Given the description of an element on the screen output the (x, y) to click on. 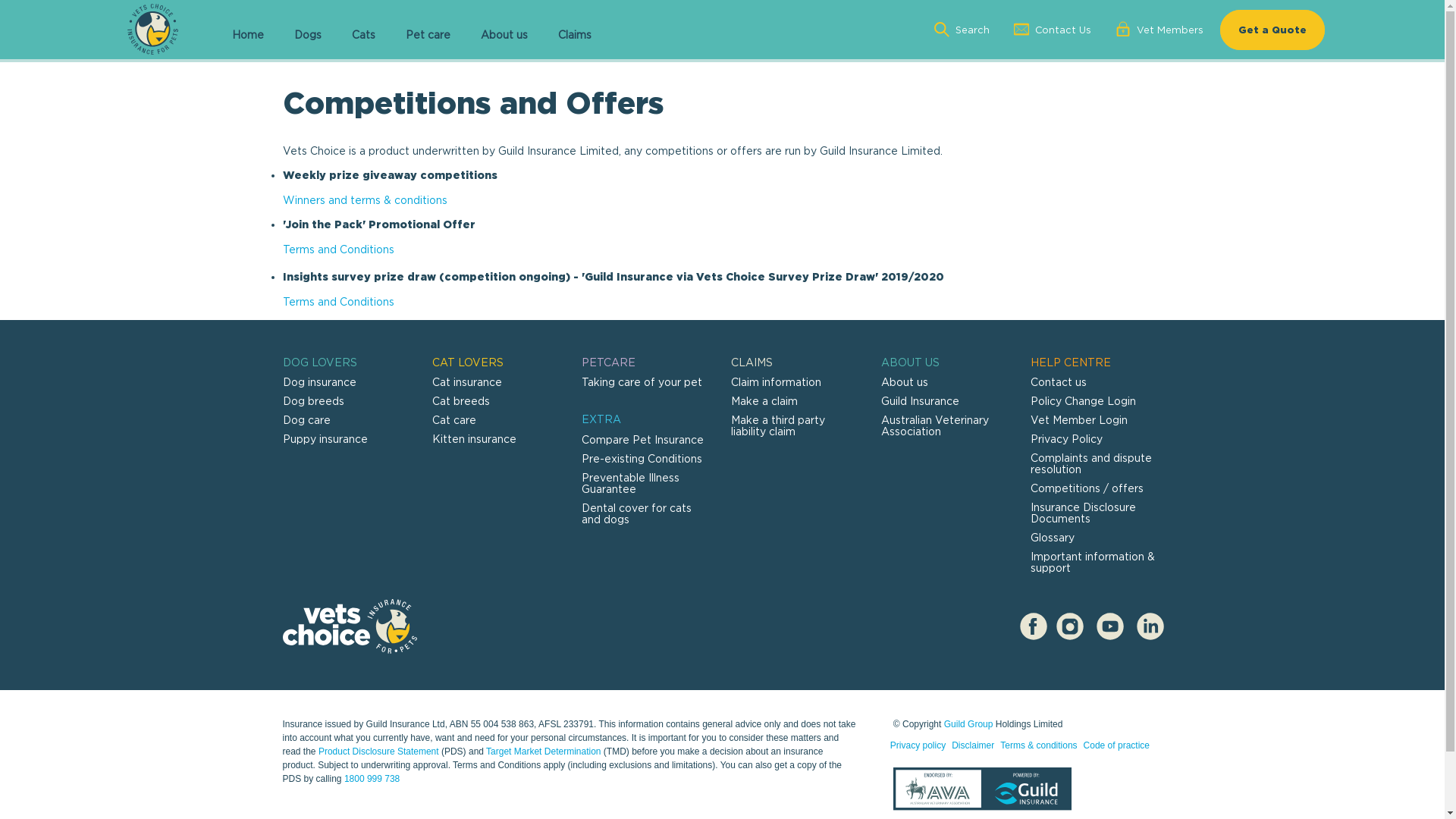
Pet care Element type: text (427, 36)
Vet Member Login Element type: text (1078, 419)
Cat care Element type: text (454, 419)
Youtube Element type: hover (1109, 626)
Dental cover for cats and dogs Element type: text (636, 513)
Claims Element type: text (574, 36)
Make a third party liability claim Element type: text (778, 425)
Complaints and dispute resolution Element type: text (1090, 462)
Disclaimer Element type: text (972, 745)
Terms and Conditions Element type: text (337, 301)
Cats Element type: text (363, 36)
Vet Members Element type: text (1160, 29)
Glossary Element type: text (1052, 536)
Contact us Element type: text (1058, 381)
Australian Veterinary Association Element type: text (934, 425)
Contact Us Element type: text (1053, 29)
Kitten insurance Element type: text (497, 442)
Claim information Element type: text (776, 381)
Important information & support Element type: text (1092, 561)
Code of practice Element type: text (1116, 745)
Vets Choice logo Element type: hover (349, 626)
Privacy Policy Element type: text (1066, 438)
Dogs Element type: text (307, 36)
Compare Pet Insurance Element type: text (642, 439)
Puppy insurance Element type: text (324, 438)
Taking care of your pet Element type: text (641, 381)
Facebook Element type: hover (1032, 626)
Terms & conditions Element type: text (1038, 745)
Cat breeds Element type: text (460, 400)
Target Market Determination Element type: text (543, 751)
Product Disclosure Statement Element type: text (379, 751)
Insurance Disclosure Documents Element type: text (1082, 512)
Instagram Element type: hover (1069, 626)
Home Element type: text (247, 36)
About us Element type: text (904, 381)
Make a claim Element type: text (764, 400)
Dog insurance Element type: text (318, 381)
Winners and terms & conditions Element type: text (364, 199)
Dog care Element type: text (305, 419)
Cat insurance Element type: text (467, 381)
Preventable Illness Guarantee Element type: text (630, 482)
Policy Change Login Element type: text (1082, 400)
Pre-existing Conditions Element type: text (641, 458)
Dog breeds Element type: text (312, 400)
1800 999 738 Element type: text (371, 778)
Privacy policy Element type: text (917, 745)
Guild Group Element type: text (968, 723)
About us Element type: text (503, 36)
Competitions / offers Element type: text (1086, 487)
Get a Quote Element type: text (1271, 29)
LinkedIn Element type: hover (1149, 626)
Guild Insurance Element type: text (920, 400)
Terms and Conditions Element type: text (337, 248)
">
Search Element type: text (963, 29)
Guild and AVA Partnership logo Element type: hover (982, 791)
